Given the description of an element on the screen output the (x, y) to click on. 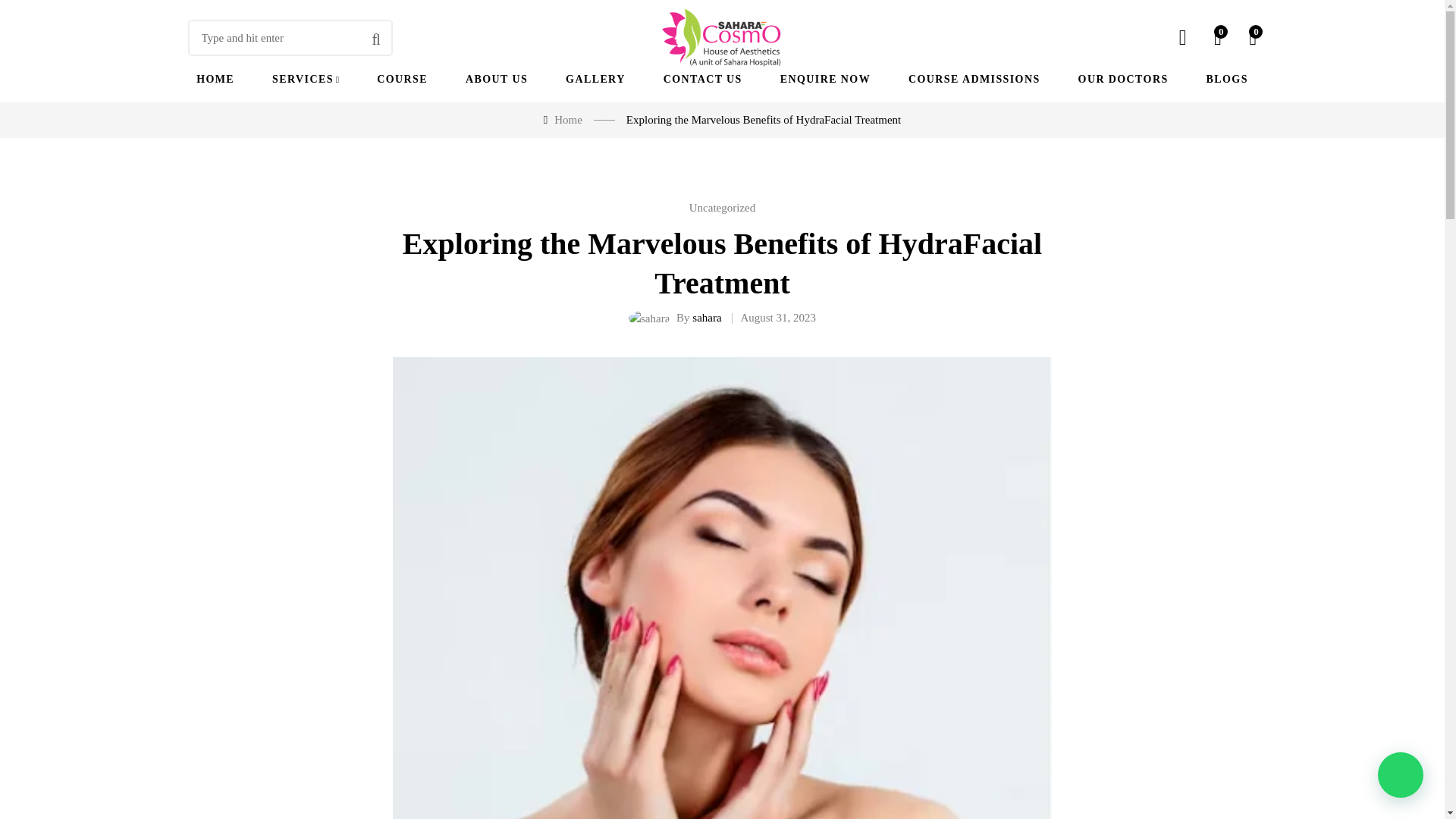
ENQUIRE NOW (825, 79)
Home (568, 119)
COURSE ADMISSIONS (974, 79)
ABOUT US (496, 79)
CONTACT US (702, 79)
SERVICES (305, 79)
Exploring the Marvelous Benefits of HydraFacial Treatment (777, 318)
sahara (706, 317)
COURSE (402, 79)
BLOGS (1227, 79)
OUR DOCTORS (1123, 79)
GALLERY (596, 79)
August 31, 2023 (777, 318)
Browse Author Articles (706, 317)
